Given the description of an element on the screen output the (x, y) to click on. 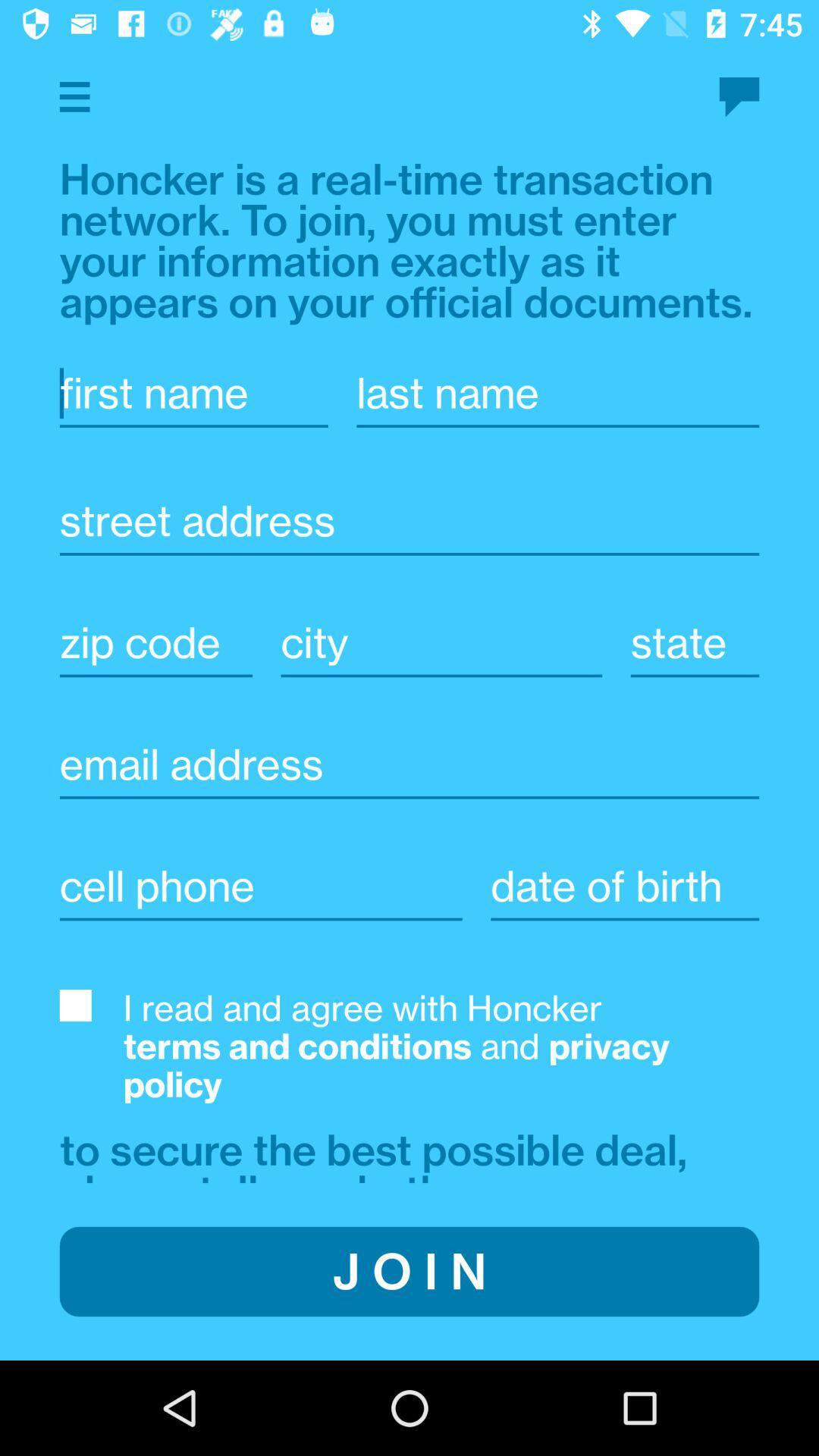
enter street address (409, 520)
